Given the description of an element on the screen output the (x, y) to click on. 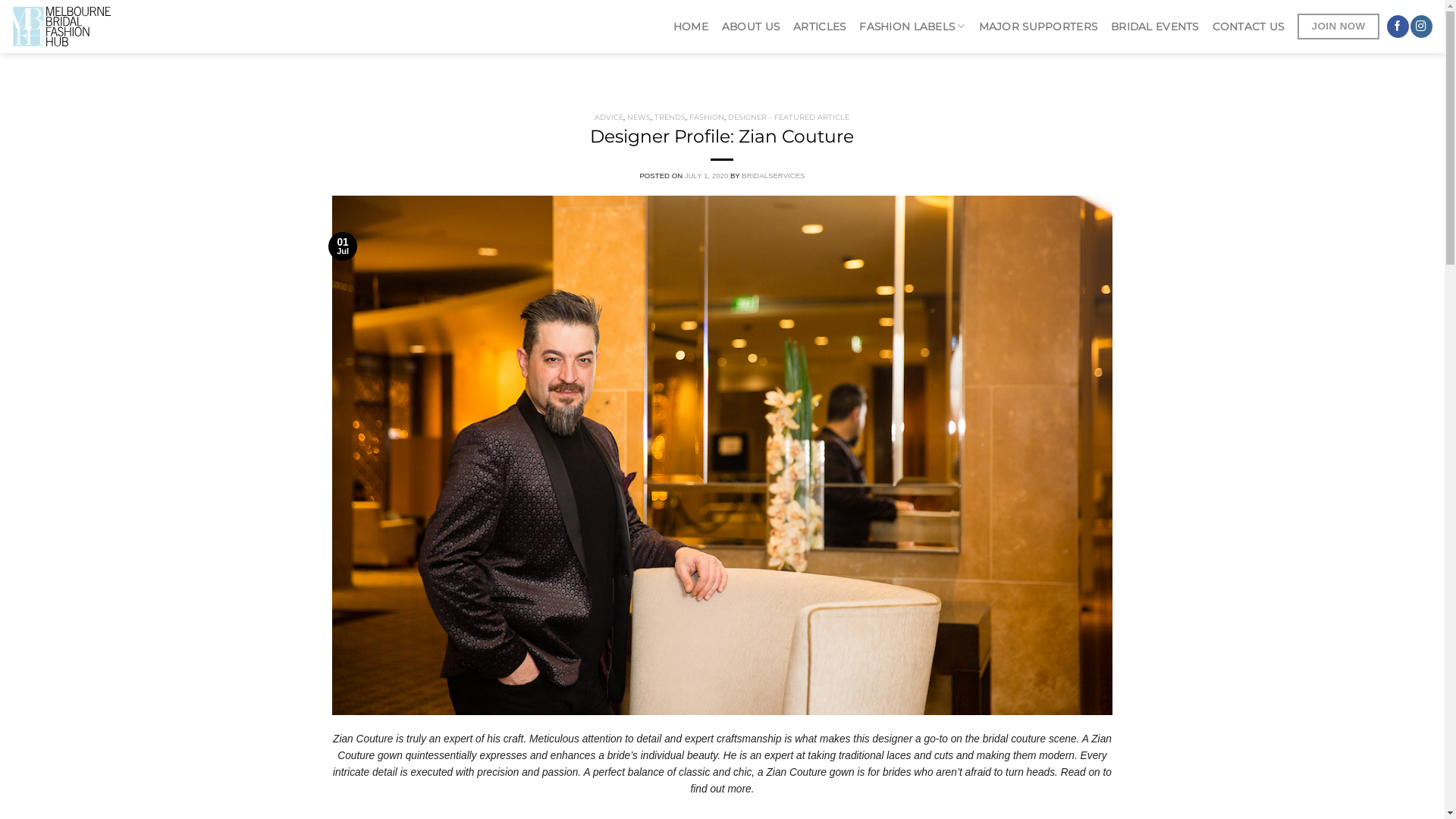
FASHION LABELS Element type: text (911, 26)
ABOUT US Element type: text (750, 26)
ARTICLES Element type: text (819, 26)
BRIDAL EVENTS Element type: text (1154, 26)
BRIDALSERVICES Element type: text (772, 175)
DESIGNER - FEATURED ARTICLE Element type: text (788, 116)
JOIN NOW Element type: text (1337, 26)
MAJOR SUPPORTERS Element type: text (1038, 26)
Melbourne Bridal Fashion Hub -  Element type: hover (107, 26)
ADVICE Element type: text (608, 116)
CONTACT US Element type: text (1248, 26)
NEWS Element type: text (638, 116)
HOME Element type: text (690, 26)
FASHION Element type: text (706, 116)
TRENDS Element type: text (669, 116)
JULY 1, 2020 Element type: text (706, 175)
